Given the description of an element on the screen output the (x, y) to click on. 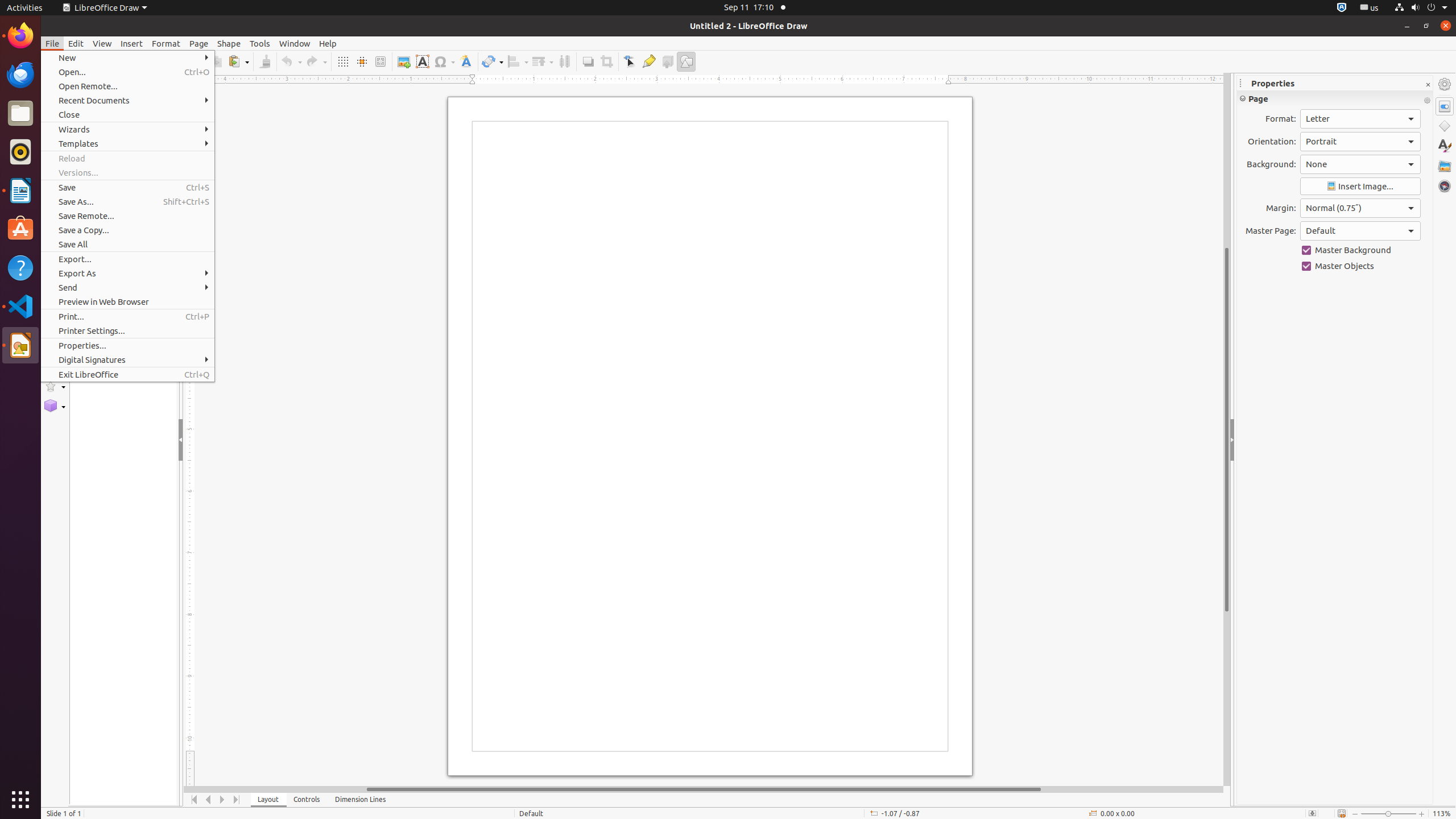
:1.21/StatusNotifierItem Element type: menu (1369, 7)
Format Element type: menu (165, 43)
3D Objects Element type: push-button (54, 406)
Shadow Element type: toggle-button (587, 61)
:1.72/StatusNotifierItem Element type: menu (1341, 7)
